Given the description of an element on the screen output the (x, y) to click on. 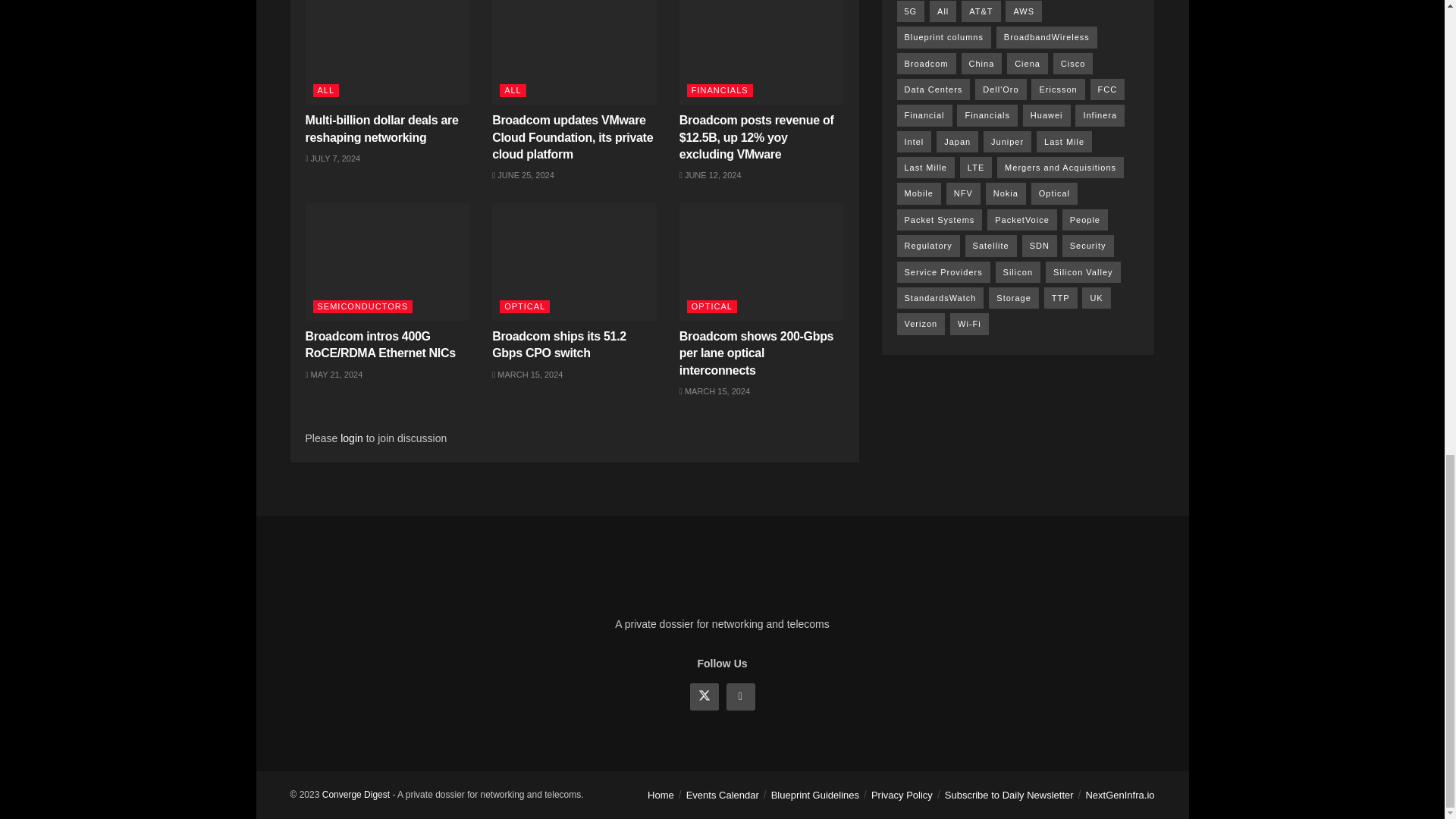
Converge Digest (355, 794)
